Given the description of an element on the screen output the (x, y) to click on. 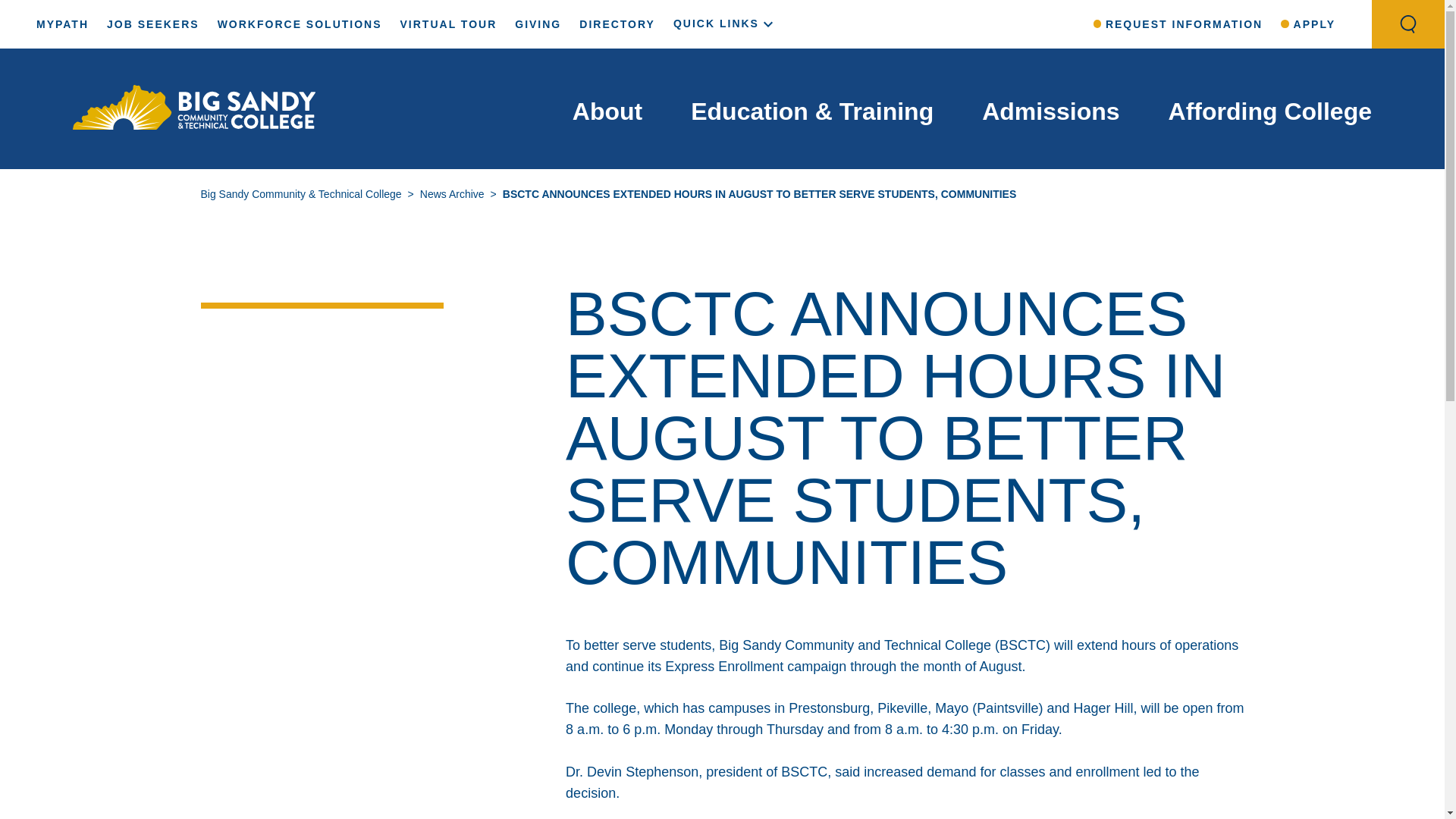
APPLY (1308, 24)
QUICK LINKS (724, 22)
VIRTUAL TOUR (448, 23)
JOB SEEKERS (152, 23)
WORKFORCE SOLUTIONS (298, 23)
DIRECTORY (617, 23)
GIVING (537, 23)
REQUEST INFORMATION (1178, 24)
MYPATH (62, 23)
